Given the description of an element on the screen output the (x, y) to click on. 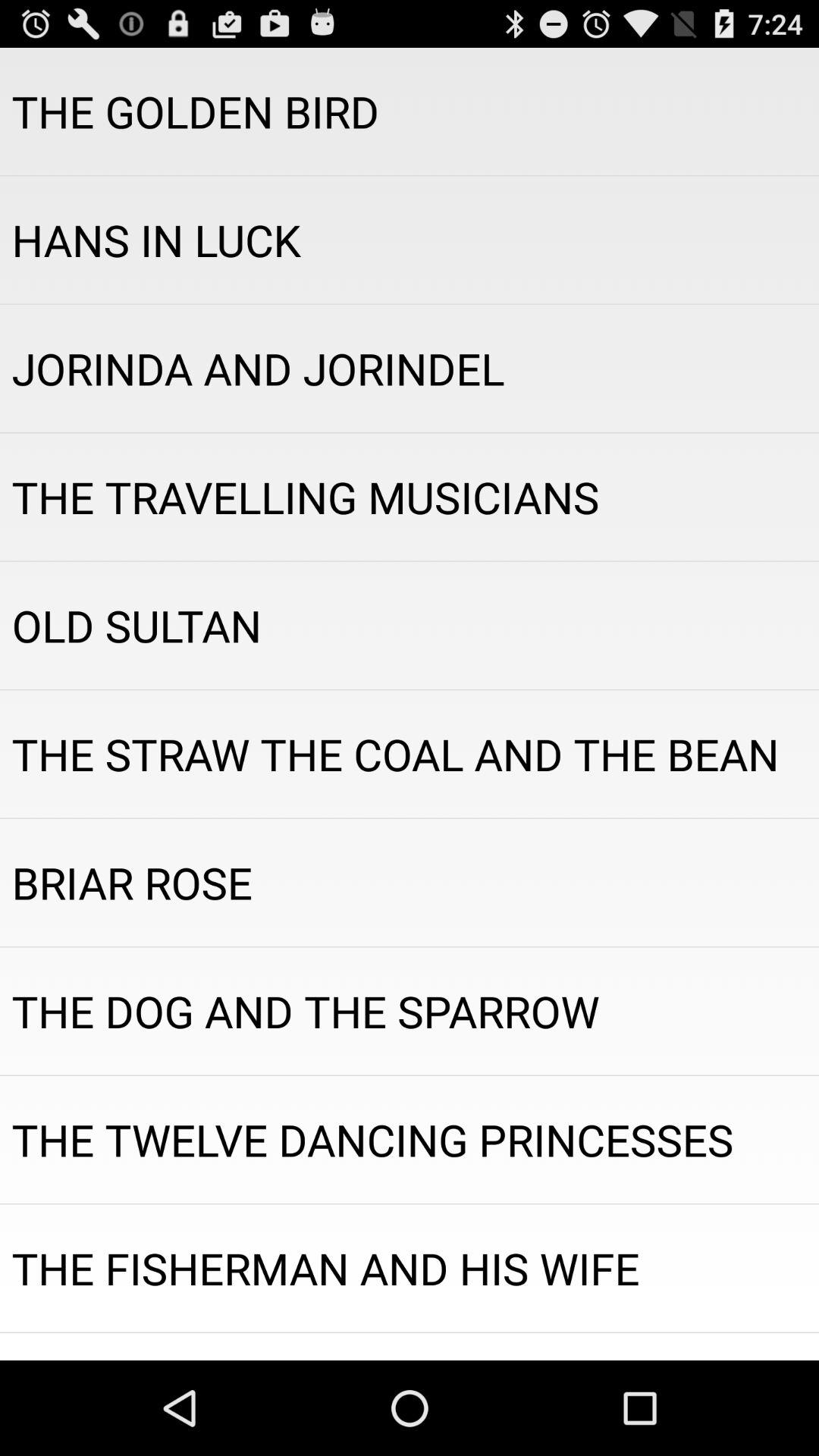
scroll until the hans in luck icon (409, 239)
